Given the description of an element on the screen output the (x, y) to click on. 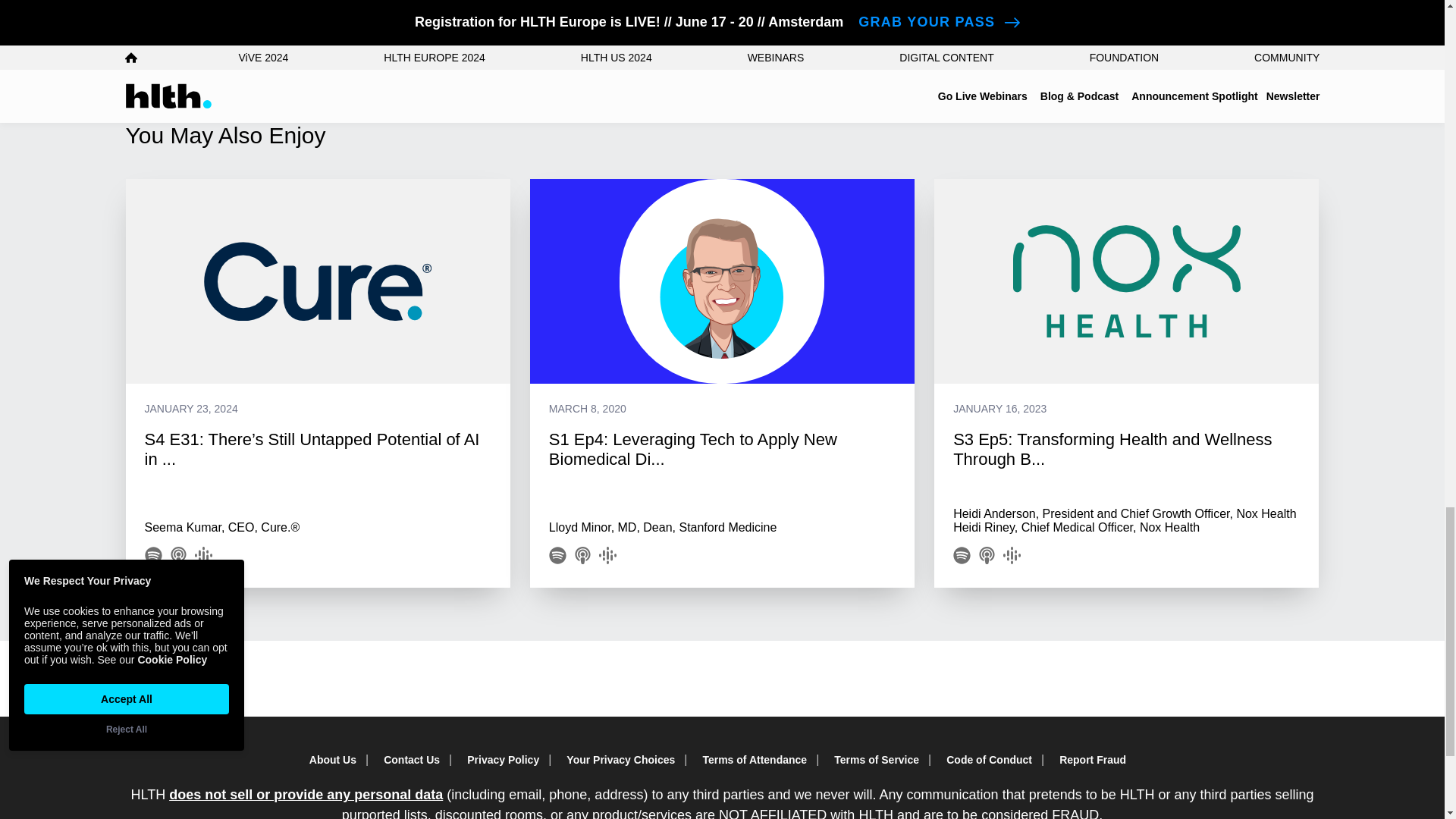
About Us (336, 759)
Terms of Service (881, 759)
Terms of Attendance (759, 759)
VIEW ALL PODCASTS (235, 8)
VIEW ALL PODCASTS (235, 8)
Privacy Policy (507, 759)
Contact Us (416, 759)
Your Privacy Choices (625, 759)
Code of Conduct (993, 759)
